Given the description of an element on the screen output the (x, y) to click on. 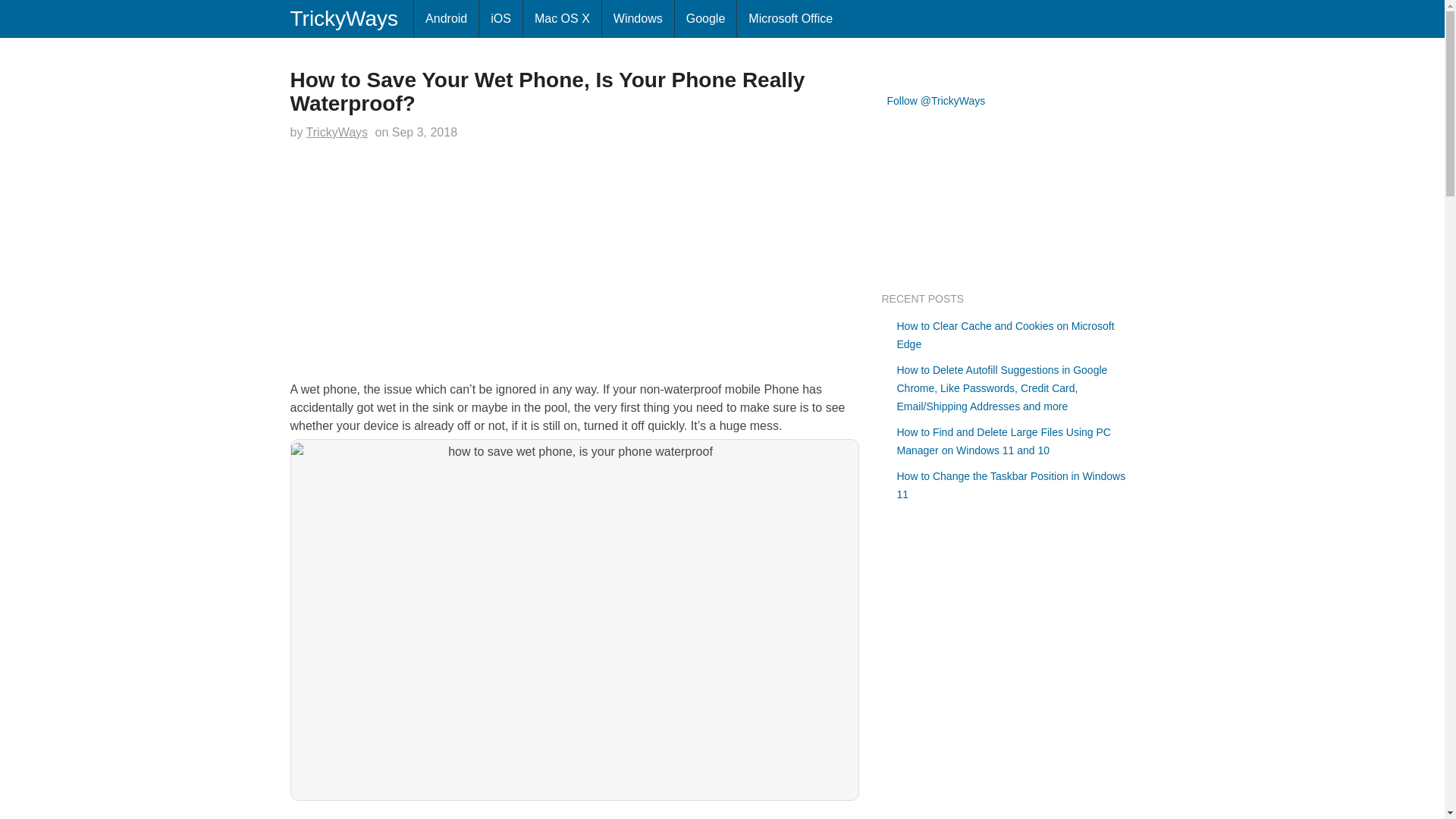
Mac OS X (561, 18)
How to Change the Taskbar Position in Windows 11 (1010, 485)
TrickyWays (336, 132)
Android (446, 18)
How to Clear Cache and Cookies on Microsoft Edge (1004, 335)
Microsoft Office (790, 18)
2018-09-03 (424, 132)
Advertisement (573, 263)
TrickyWays.com (346, 18)
iOS (500, 18)
TrickyWays (346, 18)
Windows (638, 18)
Google (705, 18)
Advertisement (1017, 688)
